Given the description of an element on the screen output the (x, y) to click on. 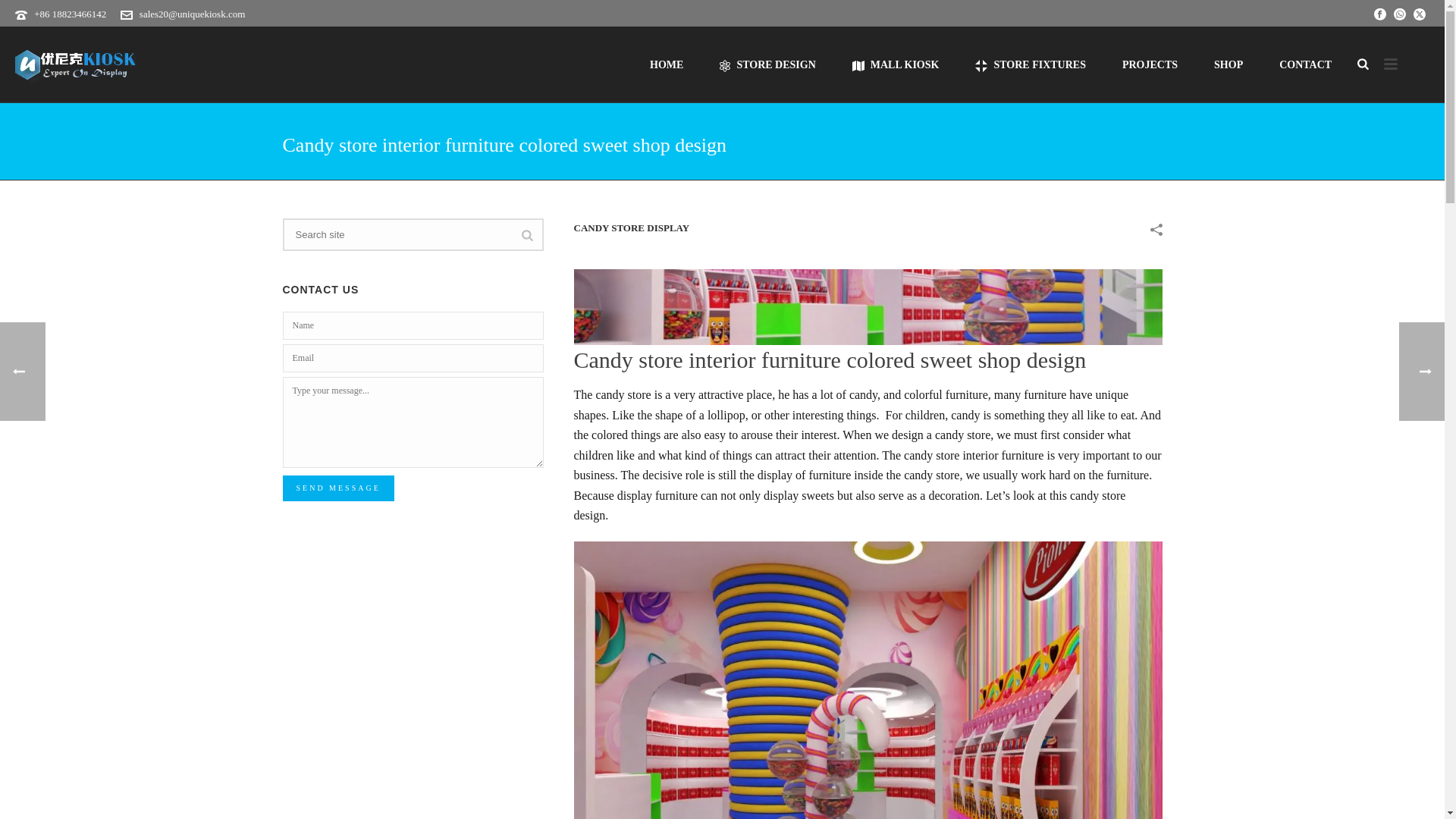
STORE FIXTURES (1030, 64)
Candy store interior furniture colored sweet shop design (867, 305)
Candy store interior furniture colored sweet shop design (867, 306)
PROJECTS (1149, 64)
HOME (666, 64)
Unique Kiosk (75, 64)
SHOP (1227, 64)
MALL KIOSK (895, 64)
CONTACT (1305, 64)
STORE FIXTURES (1030, 64)
